Given the description of an element on the screen output the (x, y) to click on. 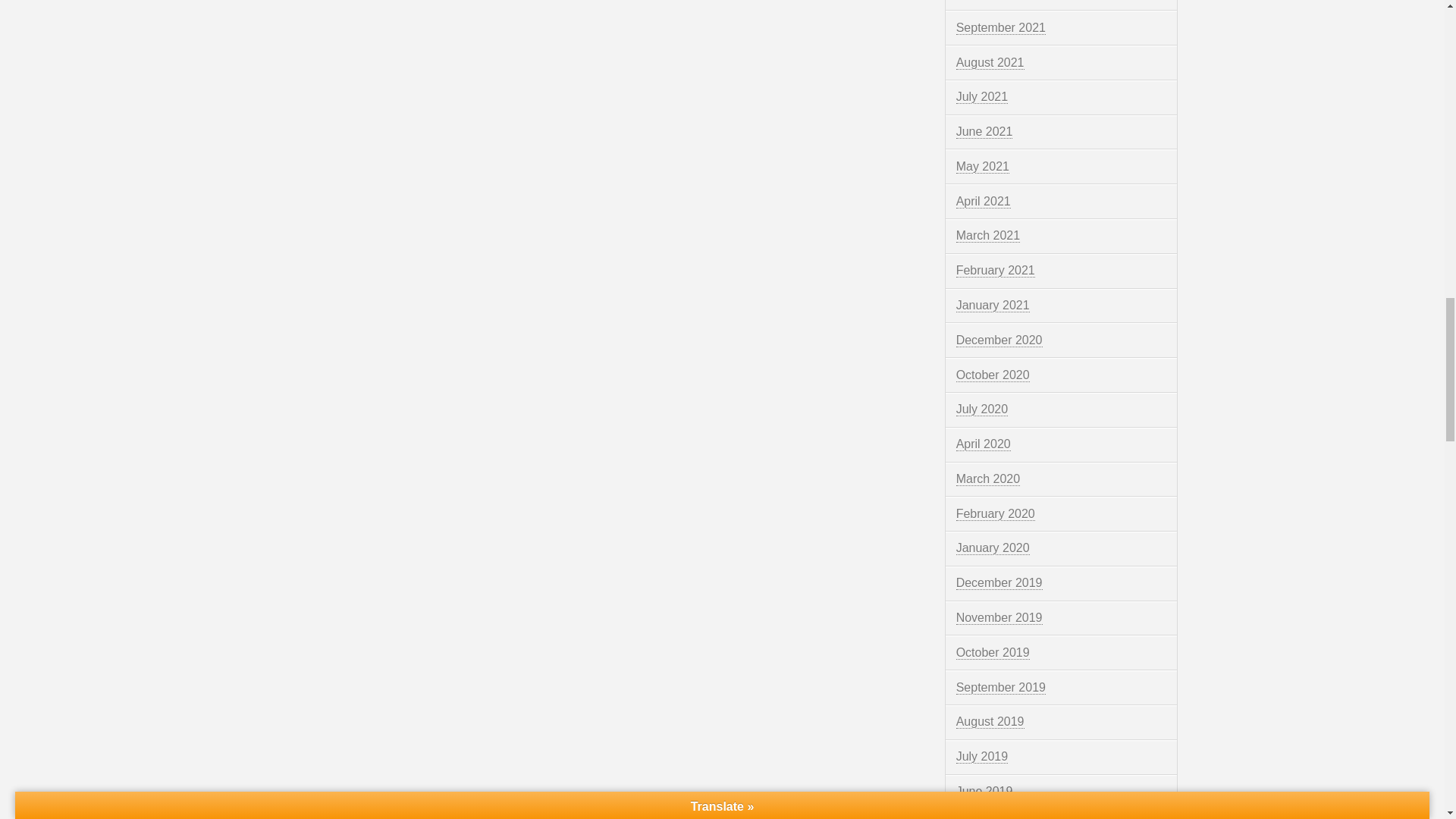
August 2021 (990, 62)
September 2021 (1000, 28)
July 2021 (982, 97)
